Given the description of an element on the screen output the (x, y) to click on. 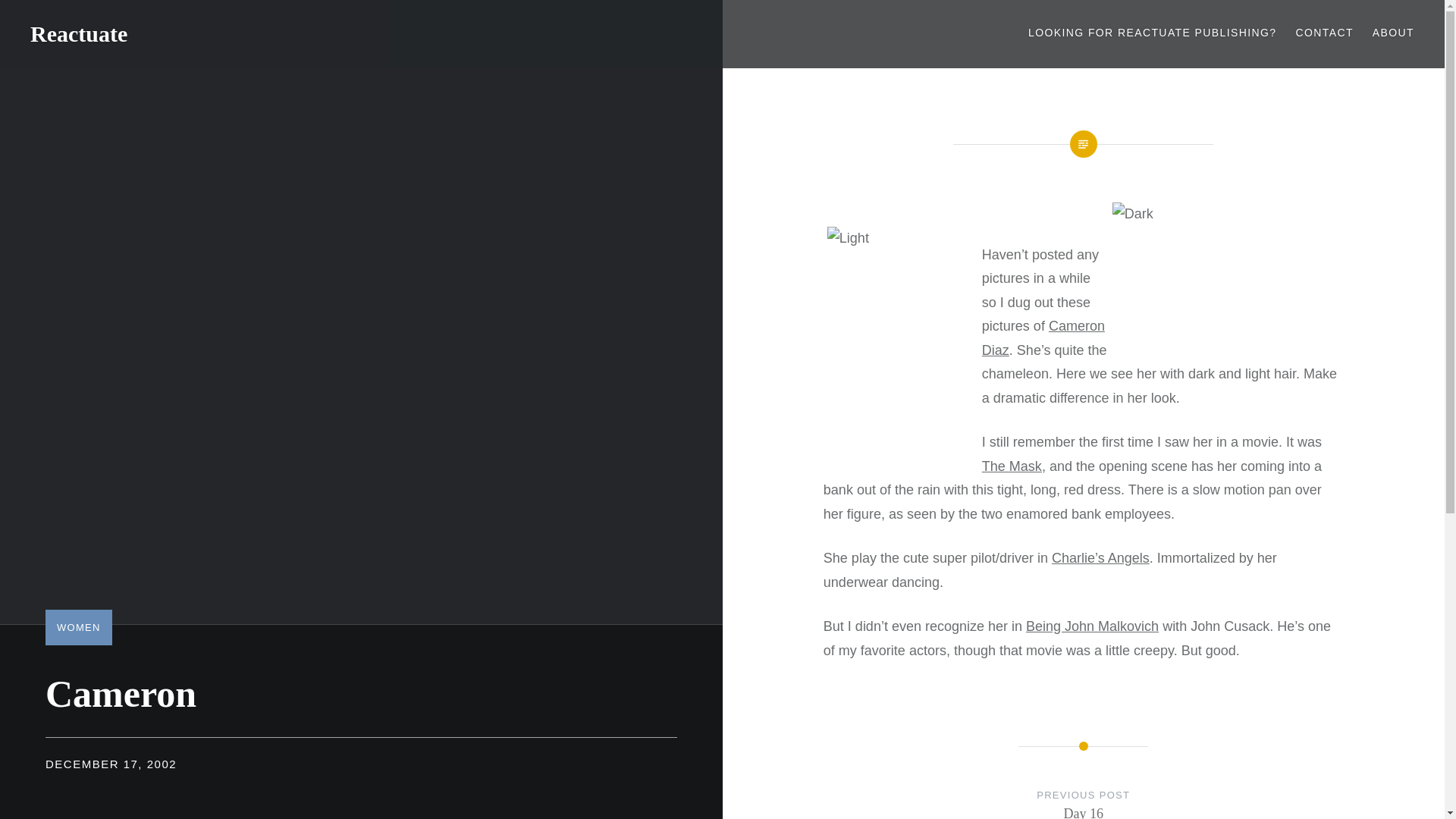
Being John Malkovich (1092, 626)
CONTACT (1323, 32)
DECEMBER 17, 2002 (110, 763)
ABOUT (1393, 32)
Reactuate (79, 33)
LOOKING FOR REACTUATE PUBLISHING? (1151, 32)
Search (141, 19)
The Mask (1083, 803)
Cameron Diaz (1011, 465)
WOMEN (1043, 337)
